Given the description of an element on the screen output the (x, y) to click on. 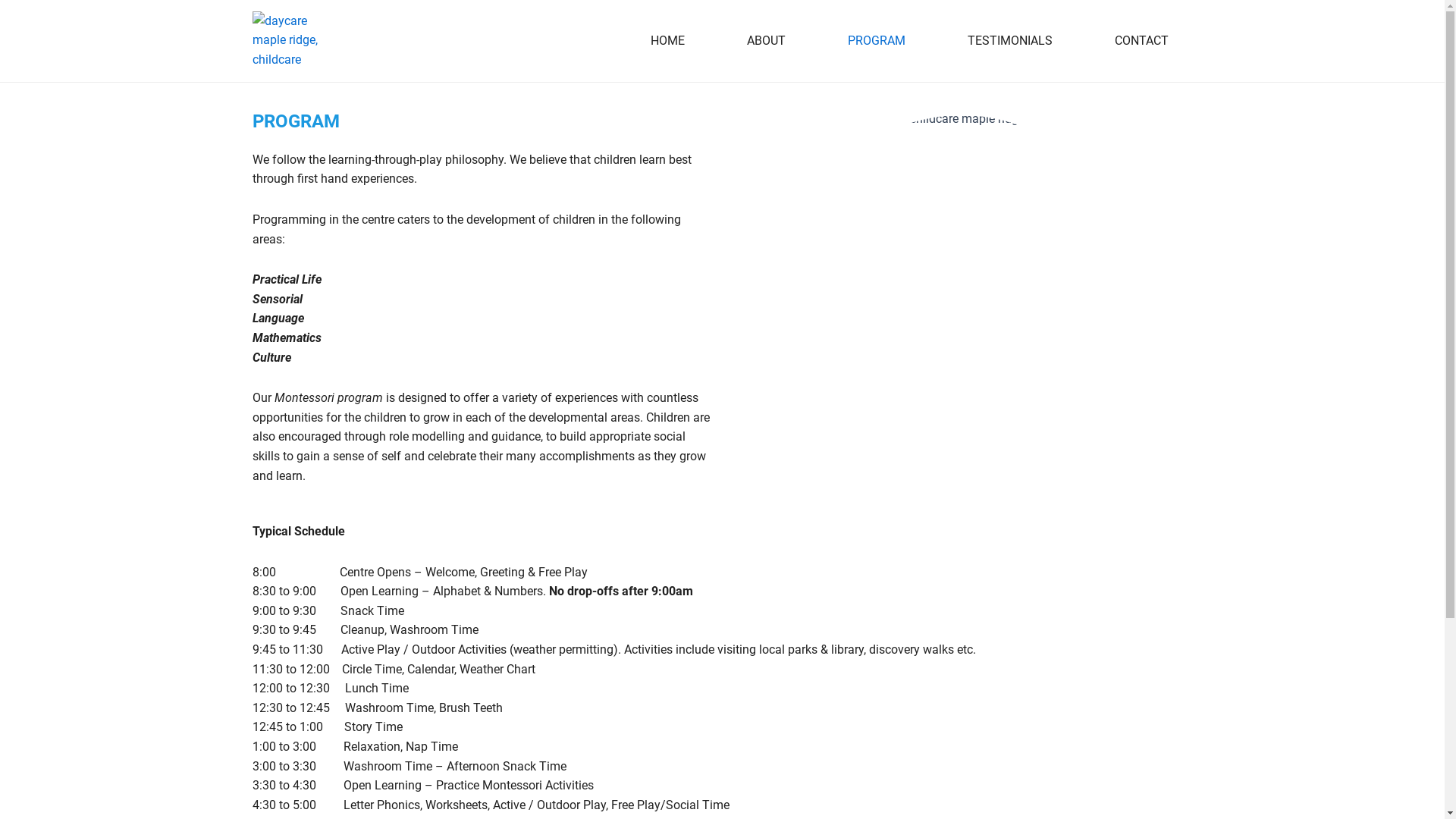
CONTACT Element type: text (1141, 40)
HOME Element type: text (667, 40)
TESTIMONIALS Element type: text (1009, 40)
PROGRAM Element type: text (876, 40)
ABOUT Element type: text (765, 40)
